Given the description of an element on the screen output the (x, y) to click on. 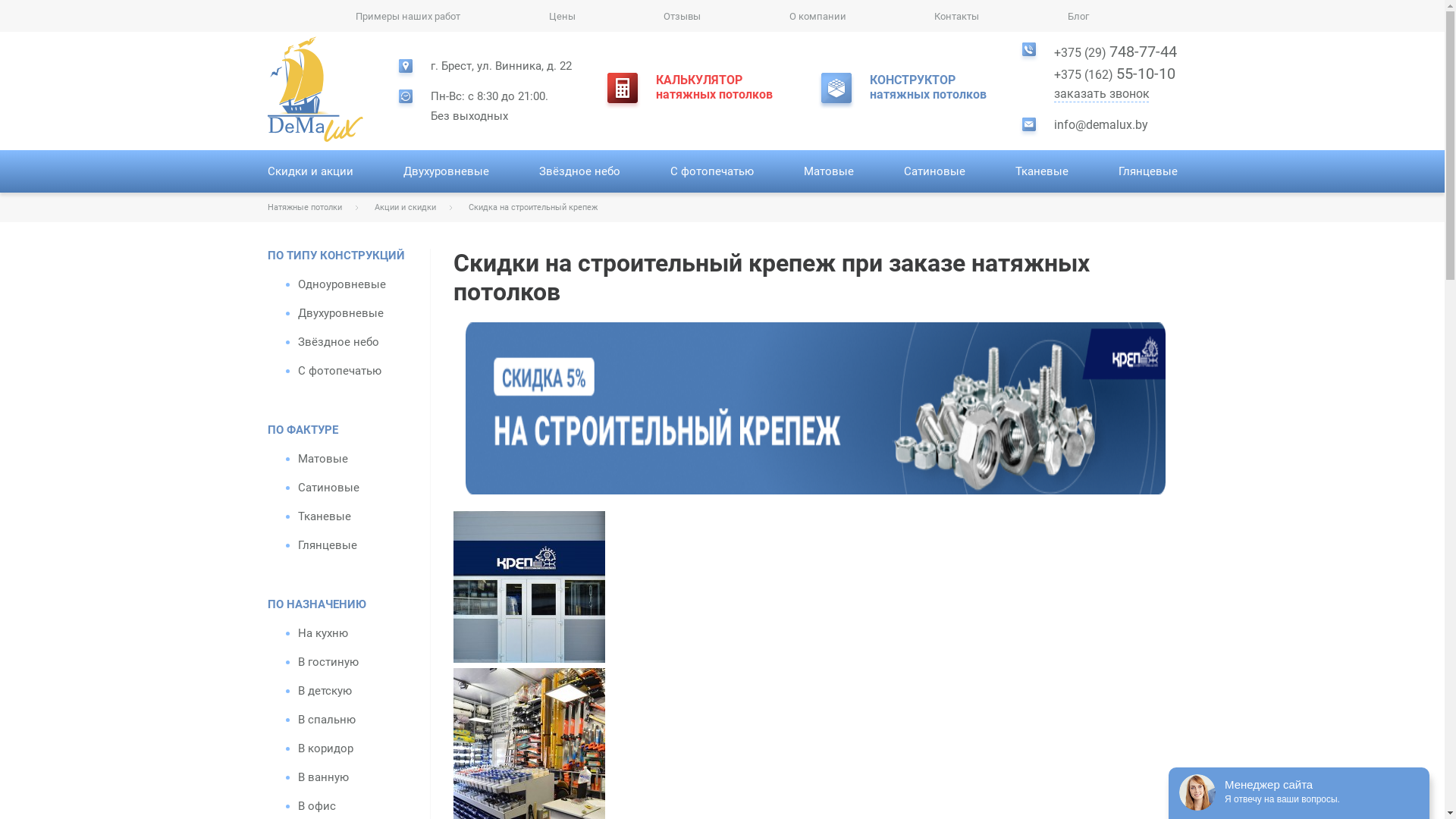
krepeg Element type: hover (529, 586)
+375 (29) 748-77-44 Element type: text (1115, 51)
+375 (162) 55-10-10 Element type: text (1115, 72)
